Given the description of an element on the screen output the (x, y) to click on. 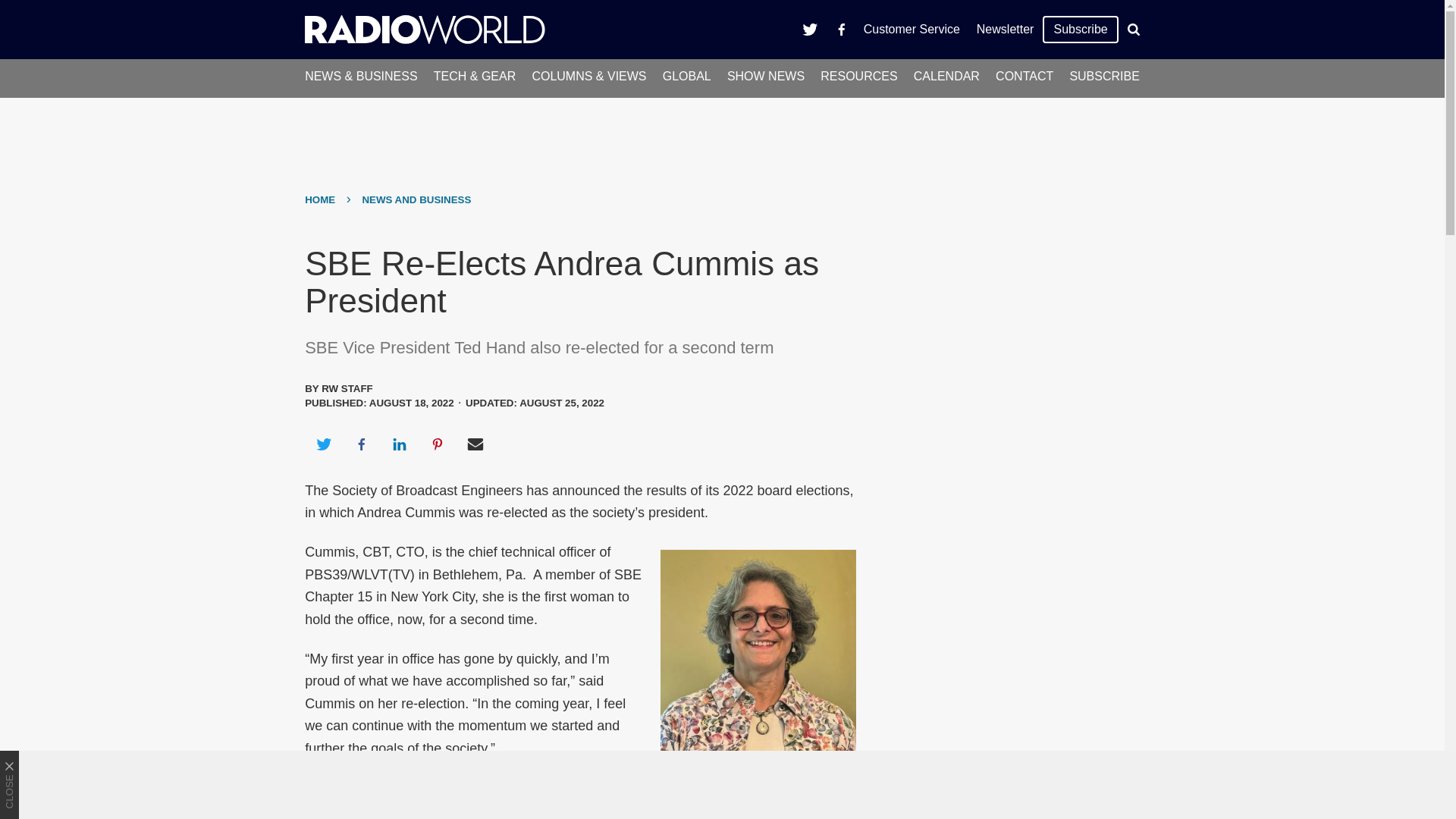
Share on LinkedIn (399, 444)
Share on Twitter (323, 444)
Customer Service (912, 29)
Share via Email (476, 444)
Share on Pinterest (438, 444)
Share on Facebook (361, 444)
